Given the description of an element on the screen output the (x, y) to click on. 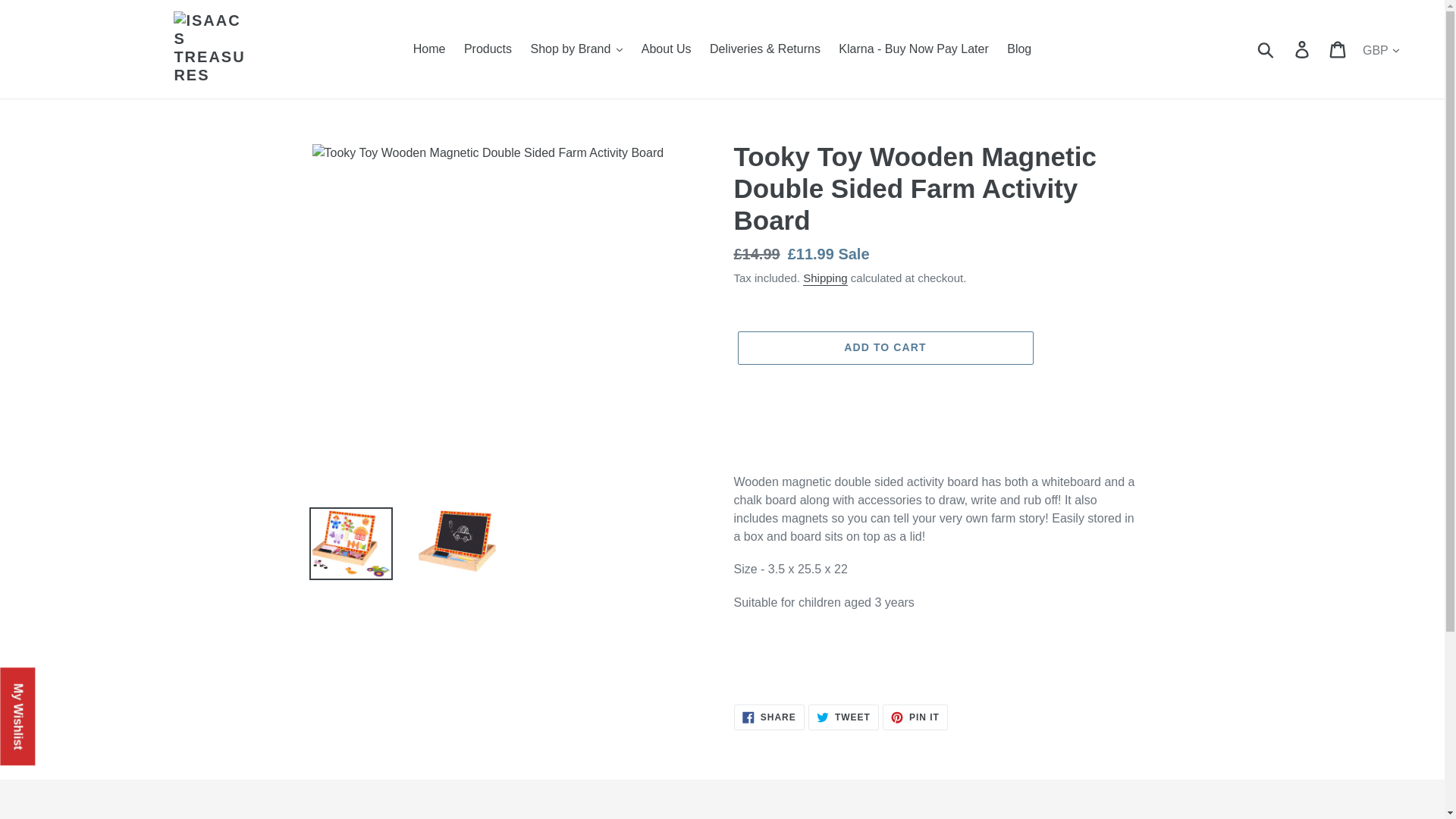
Products (488, 48)
Home (429, 48)
